Given the description of an element on the screen output the (x, y) to click on. 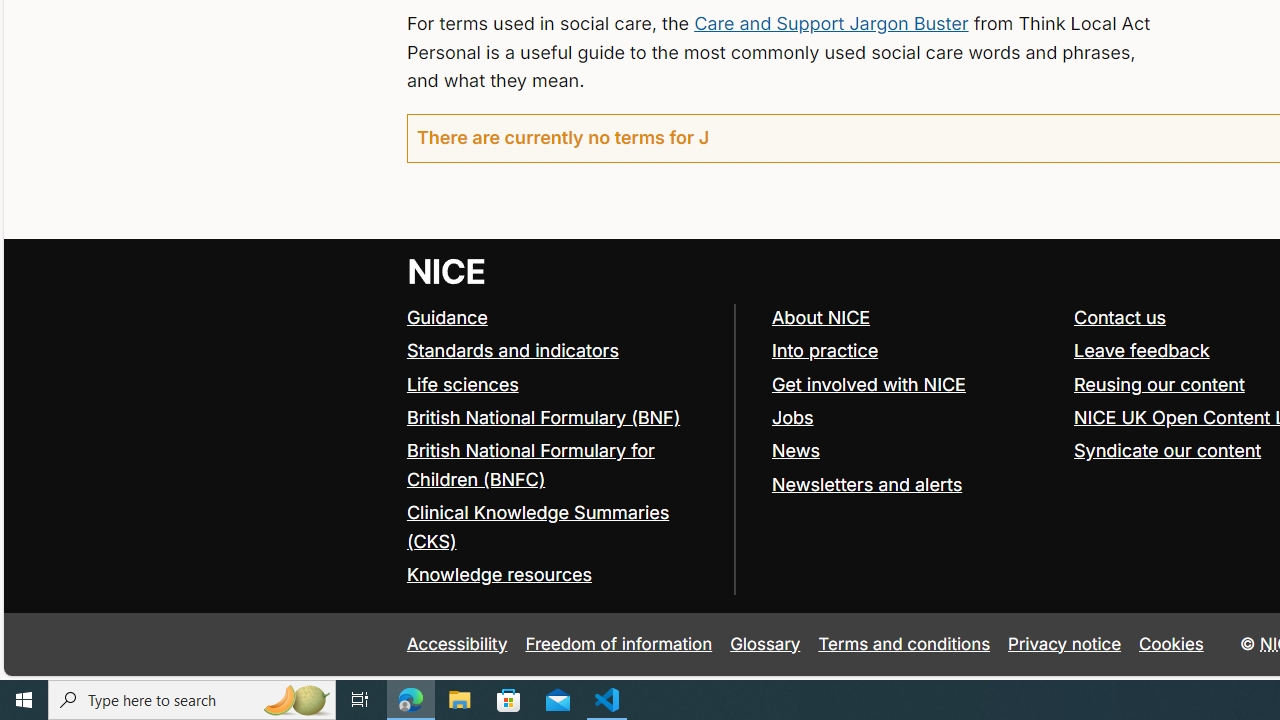
Guidance (446, 317)
Care and Support Jargon Buster (830, 22)
Terms and conditions (903, 644)
Life sciences (461, 383)
British National Formulary for Children (BNFC) (530, 464)
Contact us (1120, 317)
Leave feedback (1141, 350)
Accessibility (456, 644)
Terms and conditions (903, 644)
Get involved with NICE (913, 385)
About NICE (820, 317)
